Given the description of an element on the screen output the (x, y) to click on. 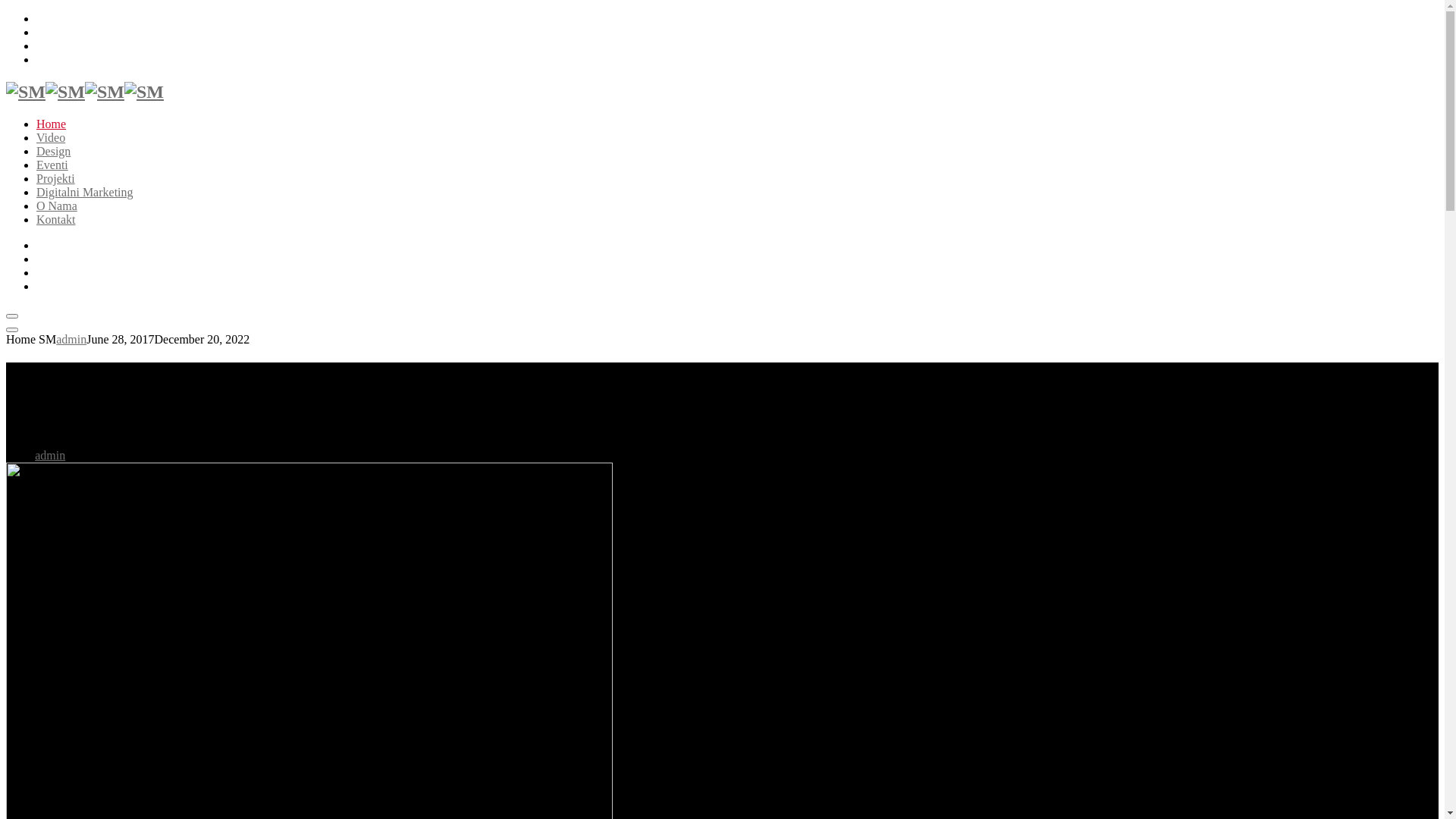
Digitalni Marketing Element type: text (84, 191)
Home Element type: text (50, 123)
Projekti Element type: text (55, 178)
SM Element type: hover (123, 91)
Video Element type: text (50, 137)
O Nama Element type: text (56, 205)
Design Element type: text (53, 150)
admin Element type: text (71, 338)
SM Element type: hover (45, 91)
Kontakt Element type: text (55, 219)
admin Element type: text (49, 454)
Eventi Element type: text (52, 164)
